Given the description of an element on the screen output the (x, y) to click on. 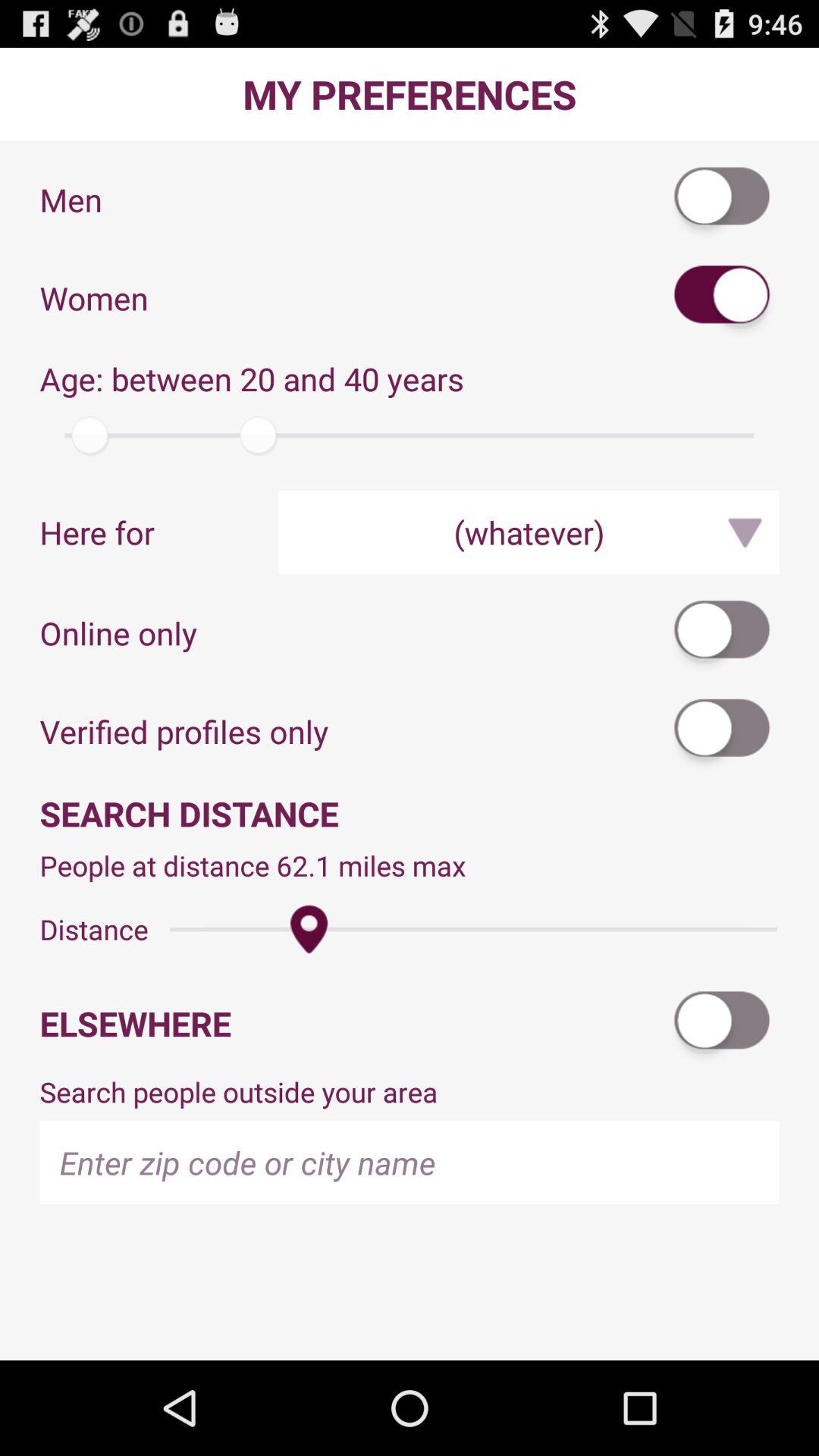
choose the icon next to elsewhere icon (722, 1023)
